Given the description of an element on the screen output the (x, y) to click on. 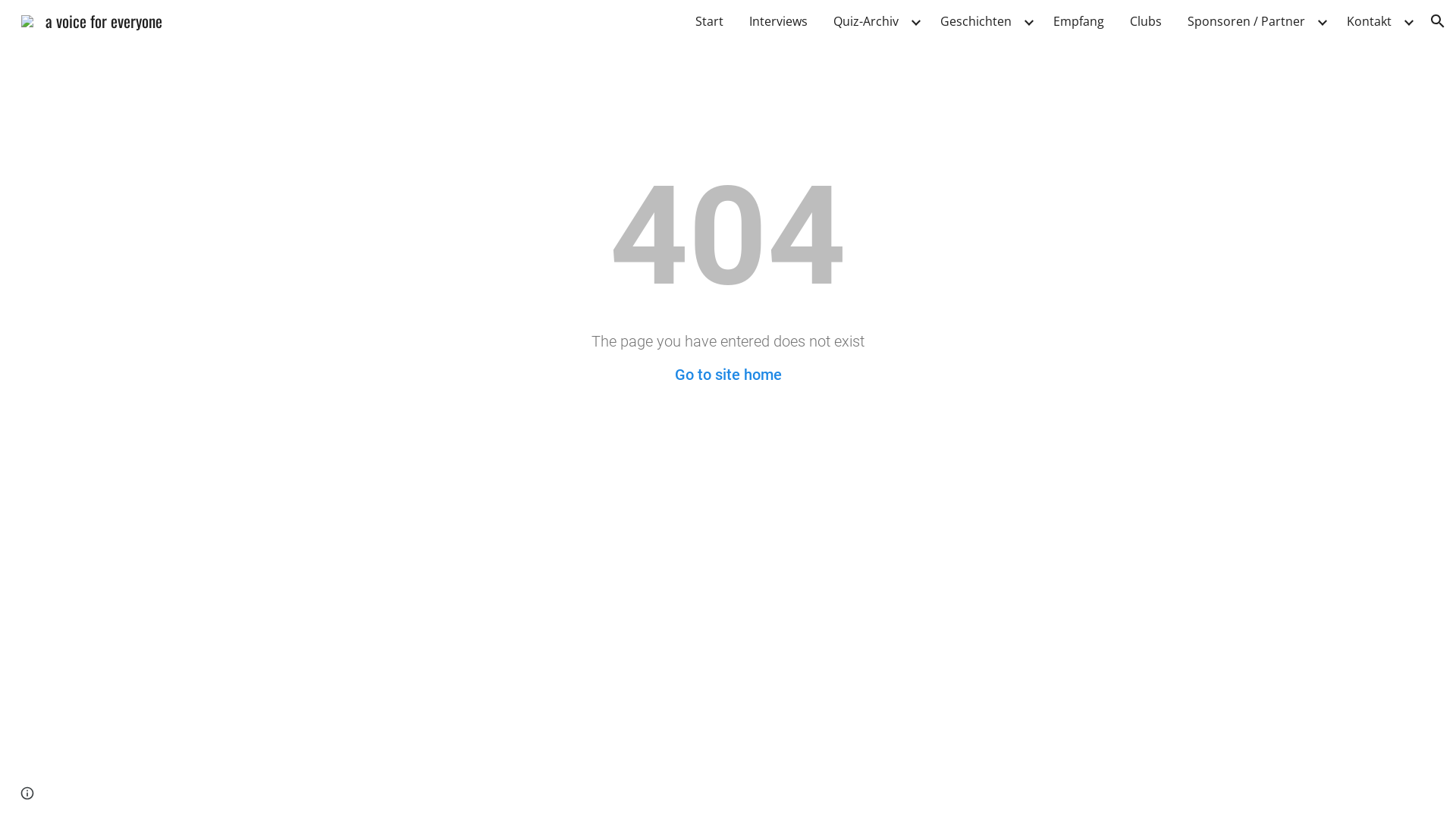
Quiz-Archiv Element type: text (865, 20)
Clubs Element type: text (1145, 20)
Expand/Collapse Element type: hover (1028, 20)
Interviews Element type: text (778, 20)
a voice for everyone Element type: text (91, 18)
Empfang Element type: text (1078, 20)
Sponsoren / Partner Element type: text (1245, 20)
Expand/Collapse Element type: hover (1408, 20)
Go to site home Element type: text (727, 374)
Expand/Collapse Element type: hover (915, 20)
Expand/Collapse Element type: hover (1321, 20)
Start Element type: text (709, 20)
Geschichten Element type: text (975, 20)
Kontakt Element type: text (1369, 20)
